Given the description of an element on the screen output the (x, y) to click on. 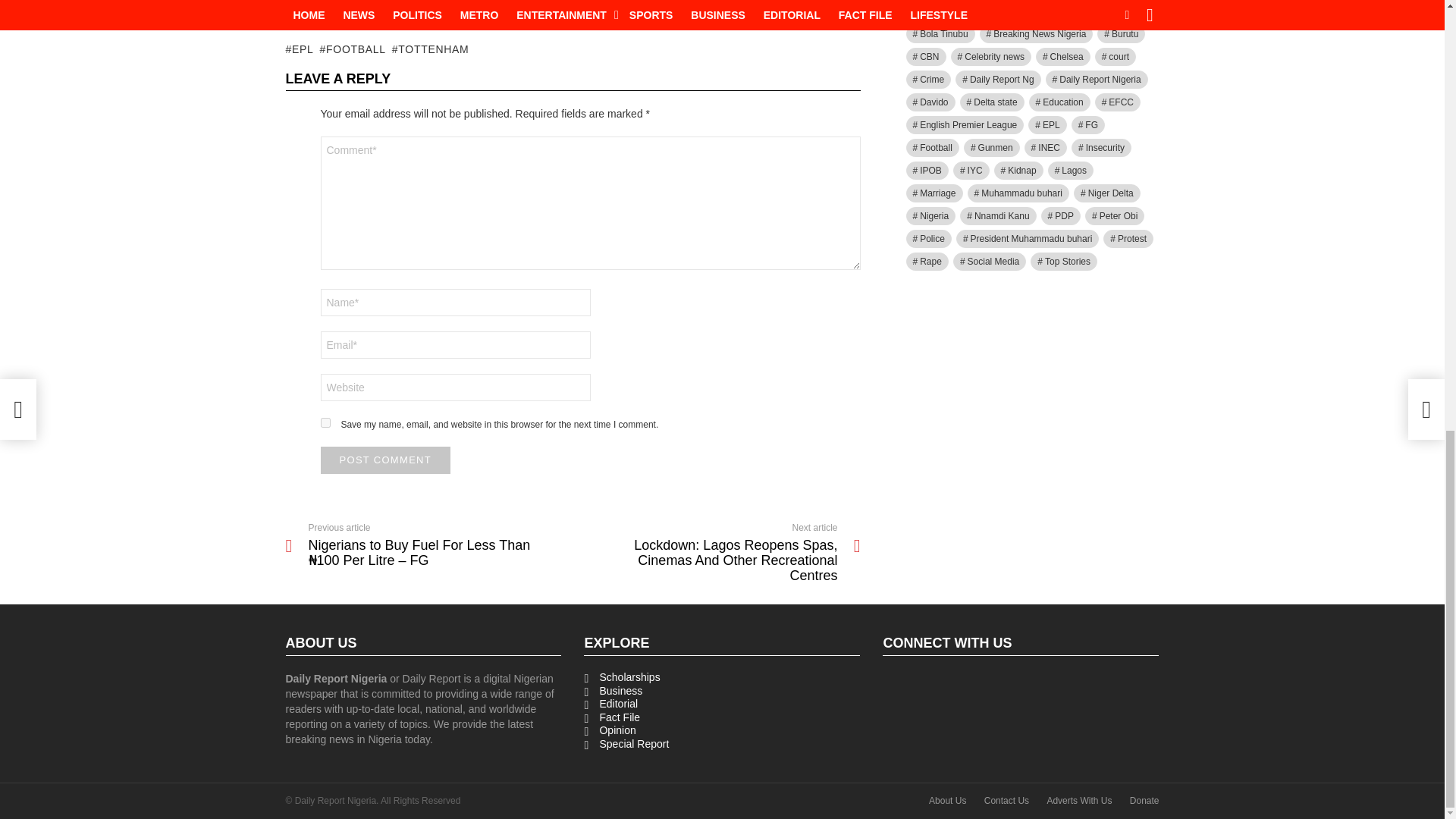
yes (325, 422)
Post Comment (384, 460)
